Given the description of an element on the screen output the (x, y) to click on. 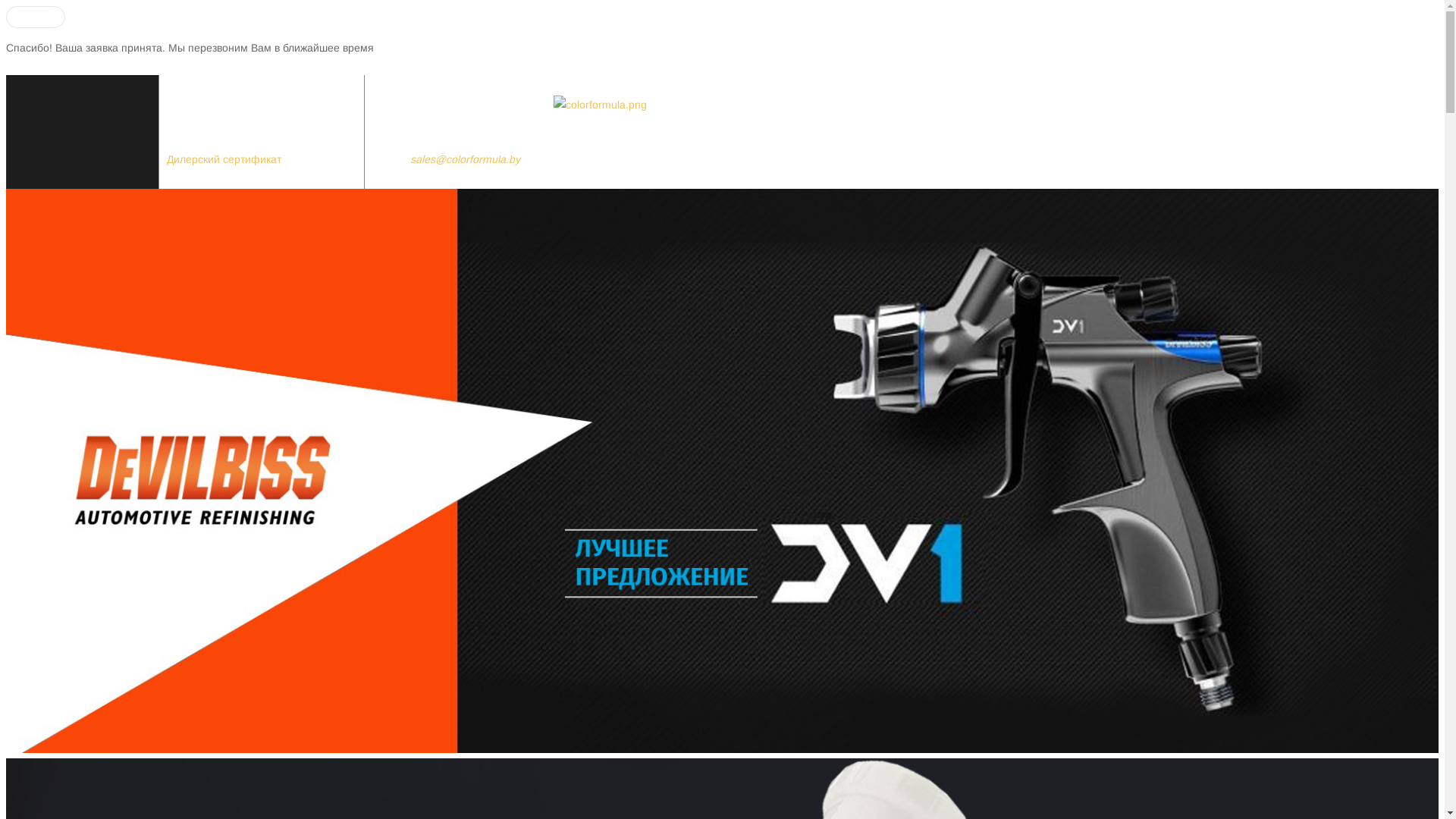
sales@colorformula.by Element type: text (465, 159)
